Given the description of an element on the screen output the (x, y) to click on. 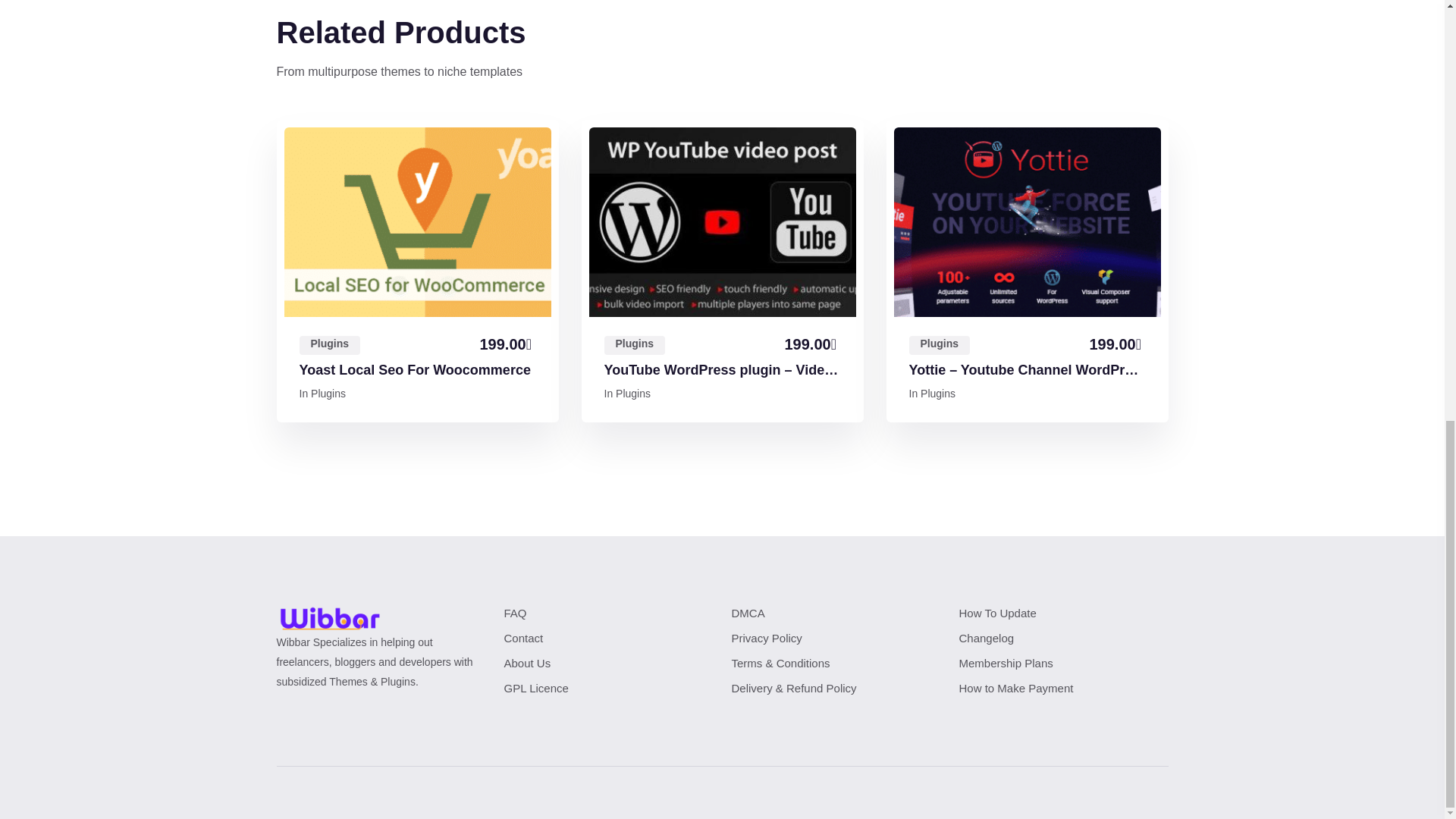
Plugins (328, 344)
Plugins (328, 393)
Plugins (632, 393)
Yoast Local Seo For Woocommerce (413, 370)
Plugins (634, 344)
Plugins (938, 344)
